Given the description of an element on the screen output the (x, y) to click on. 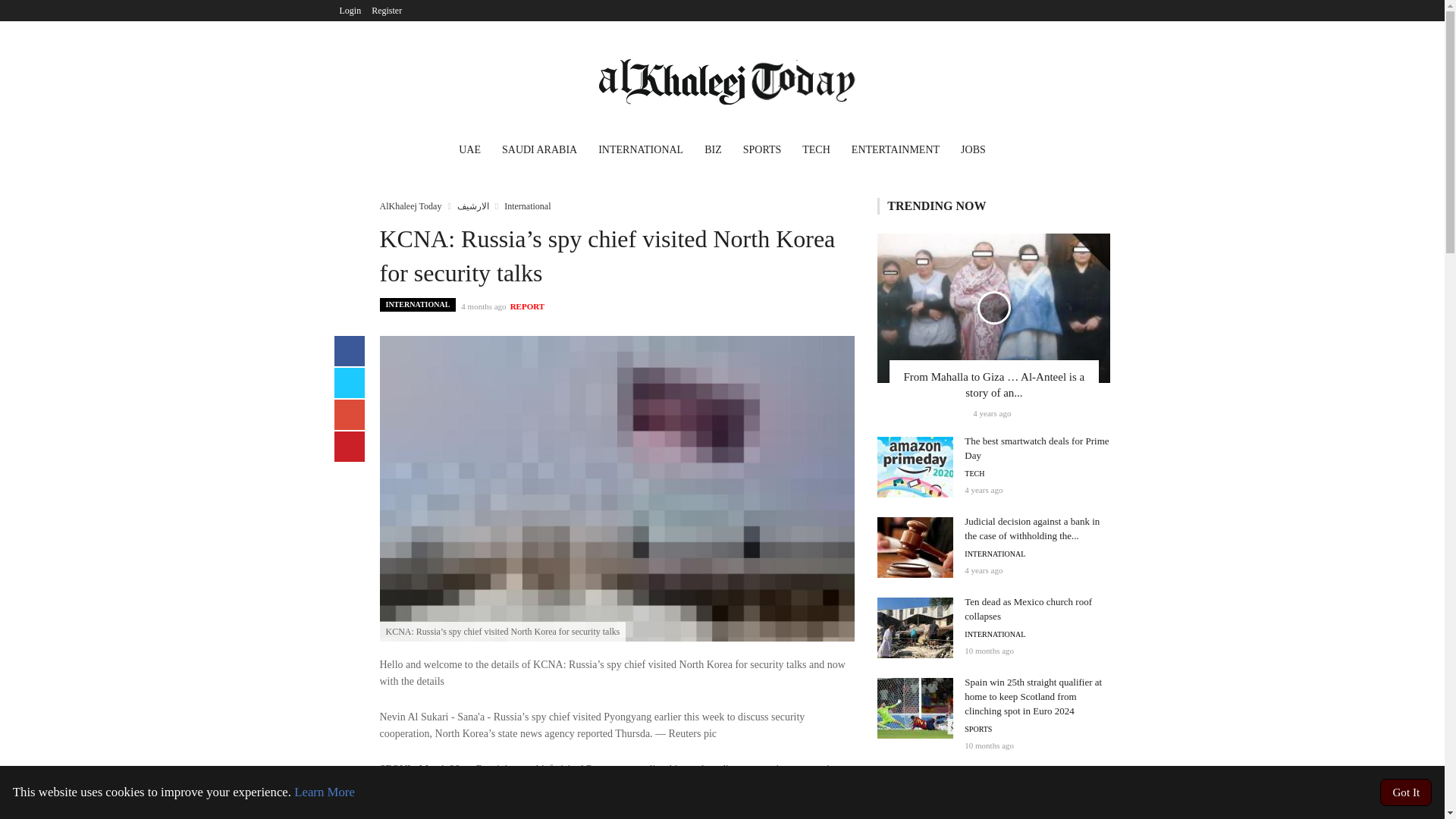
Friday 13th October 2023 10:44 AM (988, 745)
TECH (816, 151)
Learn More (324, 791)
UAE (470, 151)
Register (386, 10)
International (526, 205)
ENTERTAINMENT (895, 151)
SAUDI ARABIA (540, 151)
INTERNATIONAL (641, 151)
Thursday 08th October 2020 02:39 PM (991, 412)
AlKhaleej Today (409, 205)
SPORTS (762, 151)
Login (349, 10)
INTERNATIONAL (416, 305)
Monday 02nd October 2023 01:44 PM (988, 650)
